Given the description of an element on the screen output the (x, y) to click on. 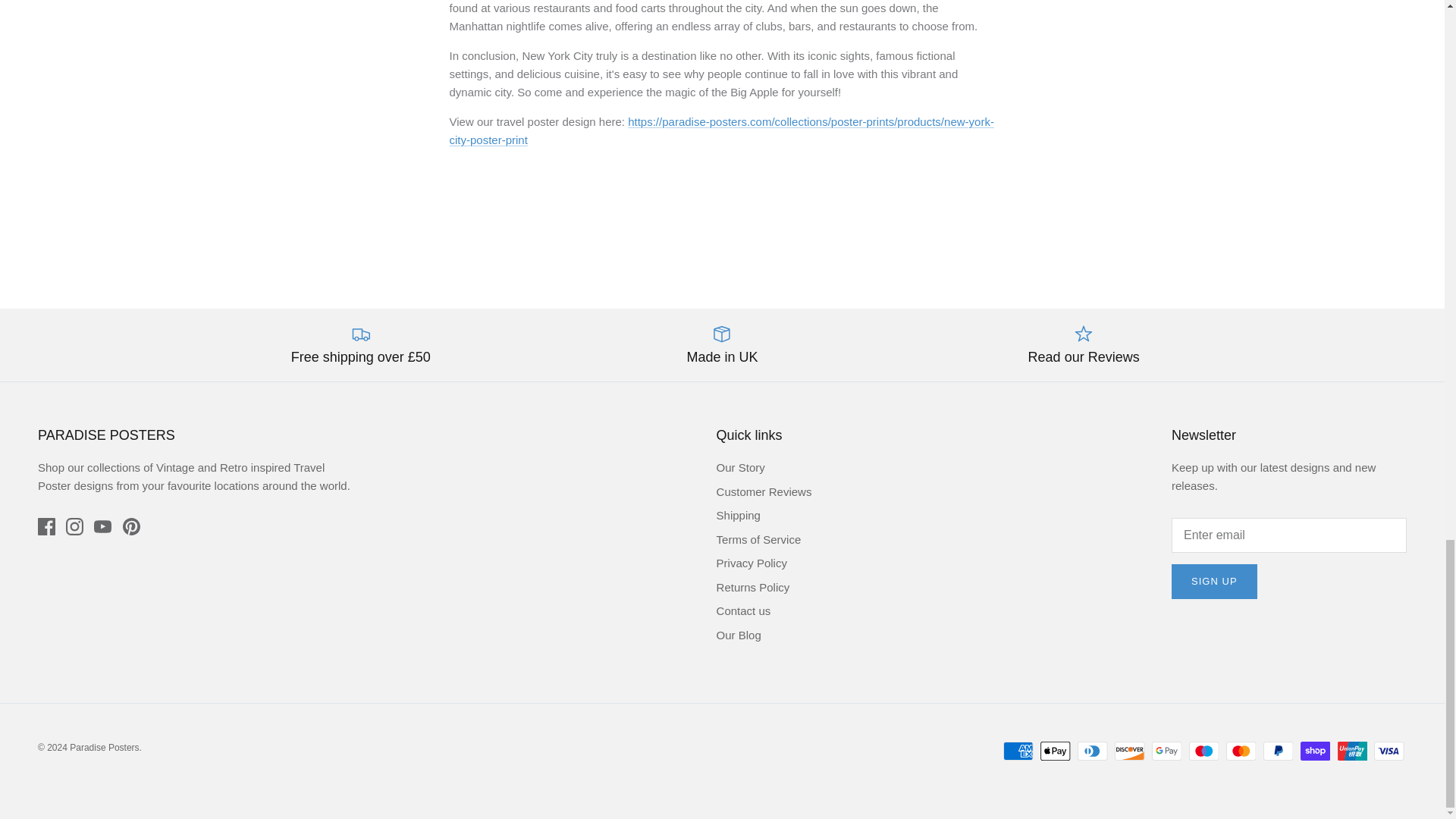
Diners Club (1092, 751)
Youtube (103, 526)
Shop Pay (1315, 751)
Facebook (46, 526)
Pinterest (130, 526)
Discover (1129, 751)
PayPal (1277, 751)
Google Pay (1166, 751)
American Express (1018, 751)
Visa (1388, 751)
Union Pay (1352, 751)
Apple Pay (1055, 751)
Maestro (1203, 751)
Mastercard (1240, 751)
Instagram (73, 526)
